Given the description of an element on the screen output the (x, y) to click on. 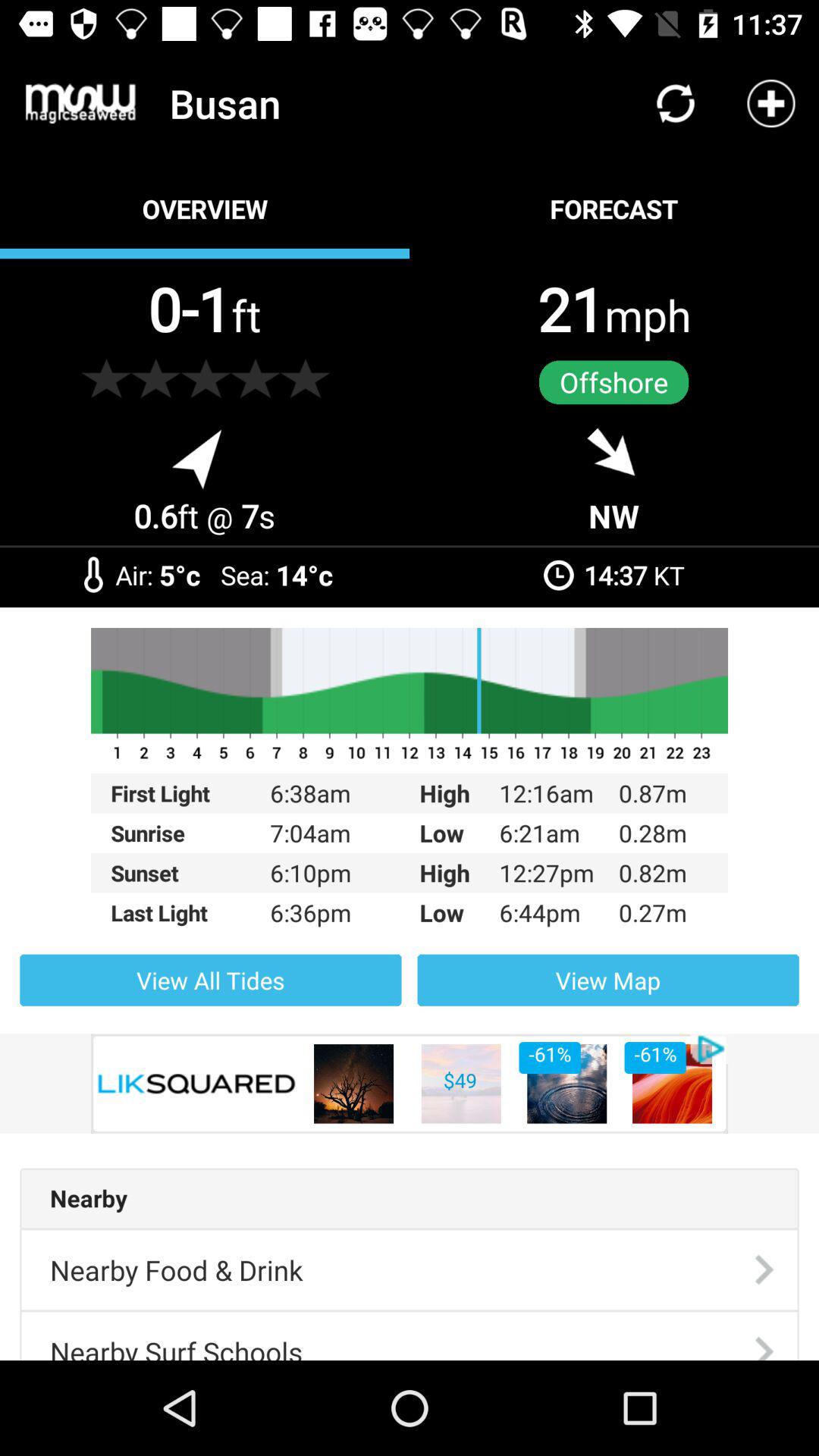
launch the app to the left of the busan item (80, 103)
